Given the description of an element on the screen output the (x, y) to click on. 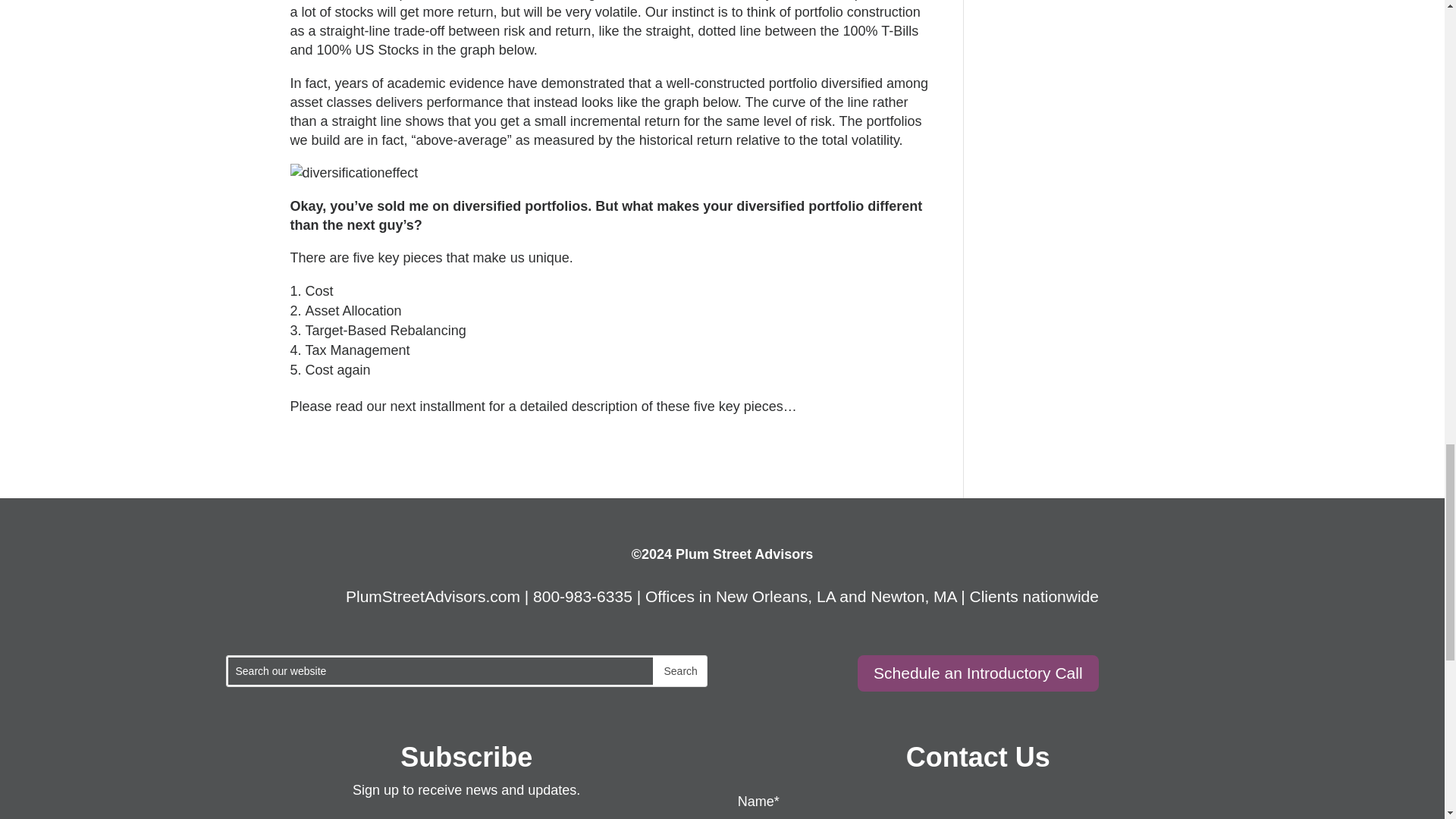
Search (679, 671)
Search (679, 671)
Search (679, 671)
Schedule an Introductory Call (978, 673)
